Given the description of an element on the screen output the (x, y) to click on. 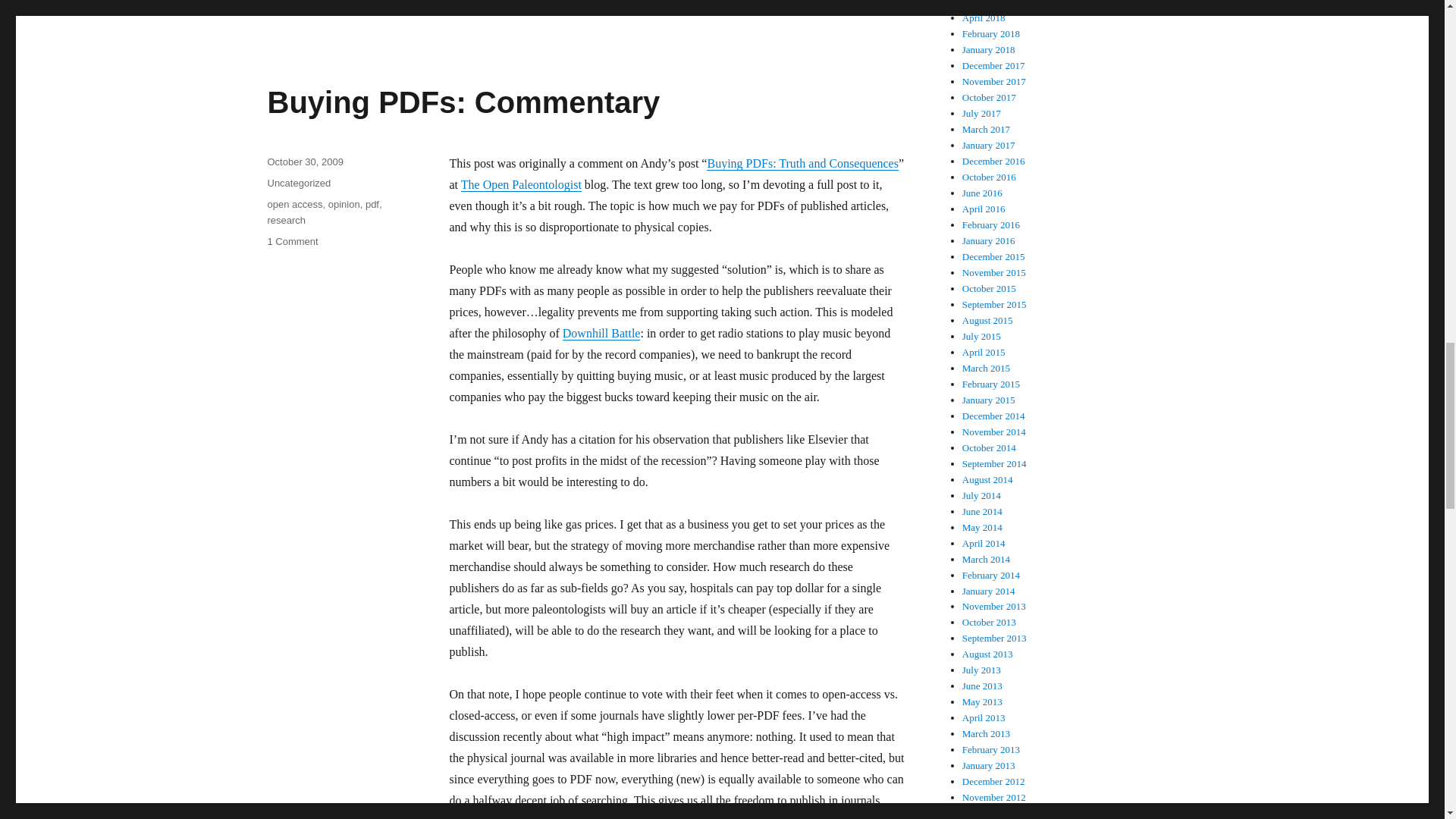
Buying PDFs: Commentary (462, 101)
Downhill Battle (601, 332)
research (285, 220)
pdf (371, 204)
October 30, 2009 (291, 241)
The Open Paleontologist (304, 161)
opinion (520, 184)
Buying PDFs: Truth and Consequences (344, 204)
open access (802, 163)
